Given the description of an element on the screen output the (x, y) to click on. 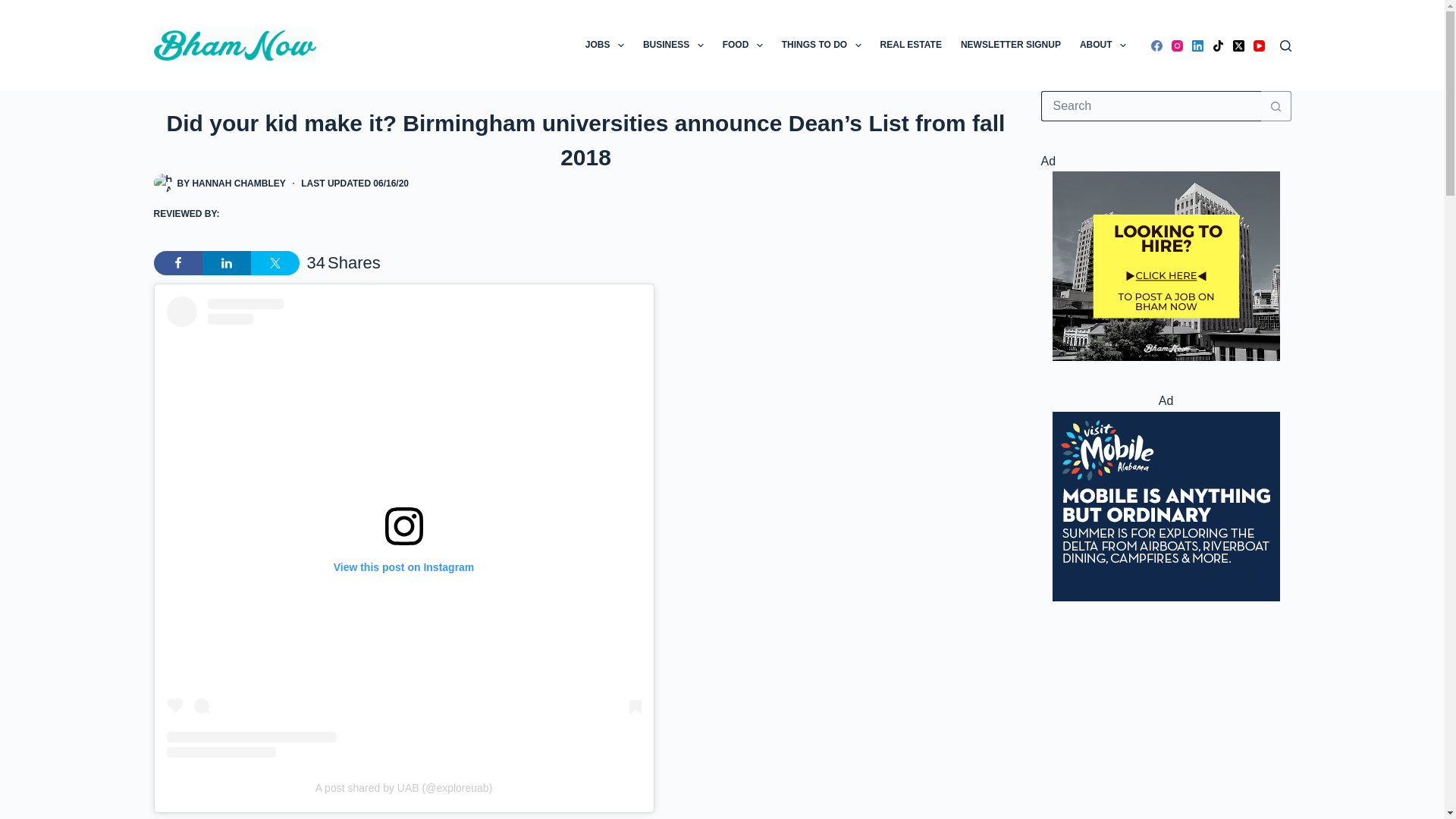
Posts by Hannah Chambley (238, 183)
Share on LinkedIn (226, 262)
Share on Twitter (274, 262)
Share on Facebook (177, 262)
Skip to content (15, 7)
Search for... (1150, 105)
